Given the description of an element on the screen output the (x, y) to click on. 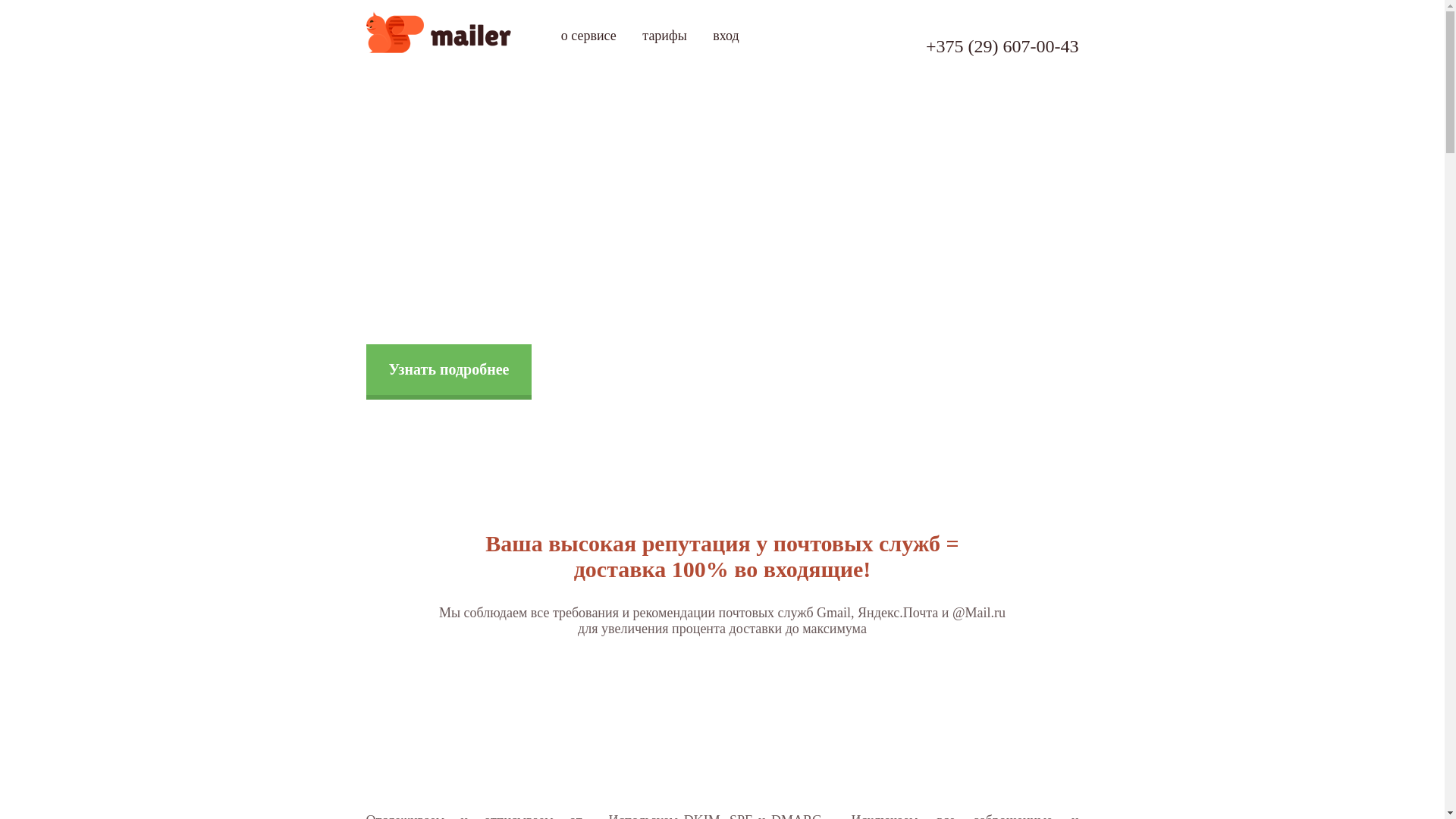
+375 (29) 607-00-43 Element type: text (1002, 46)
